Given the description of an element on the screen output the (x, y) to click on. 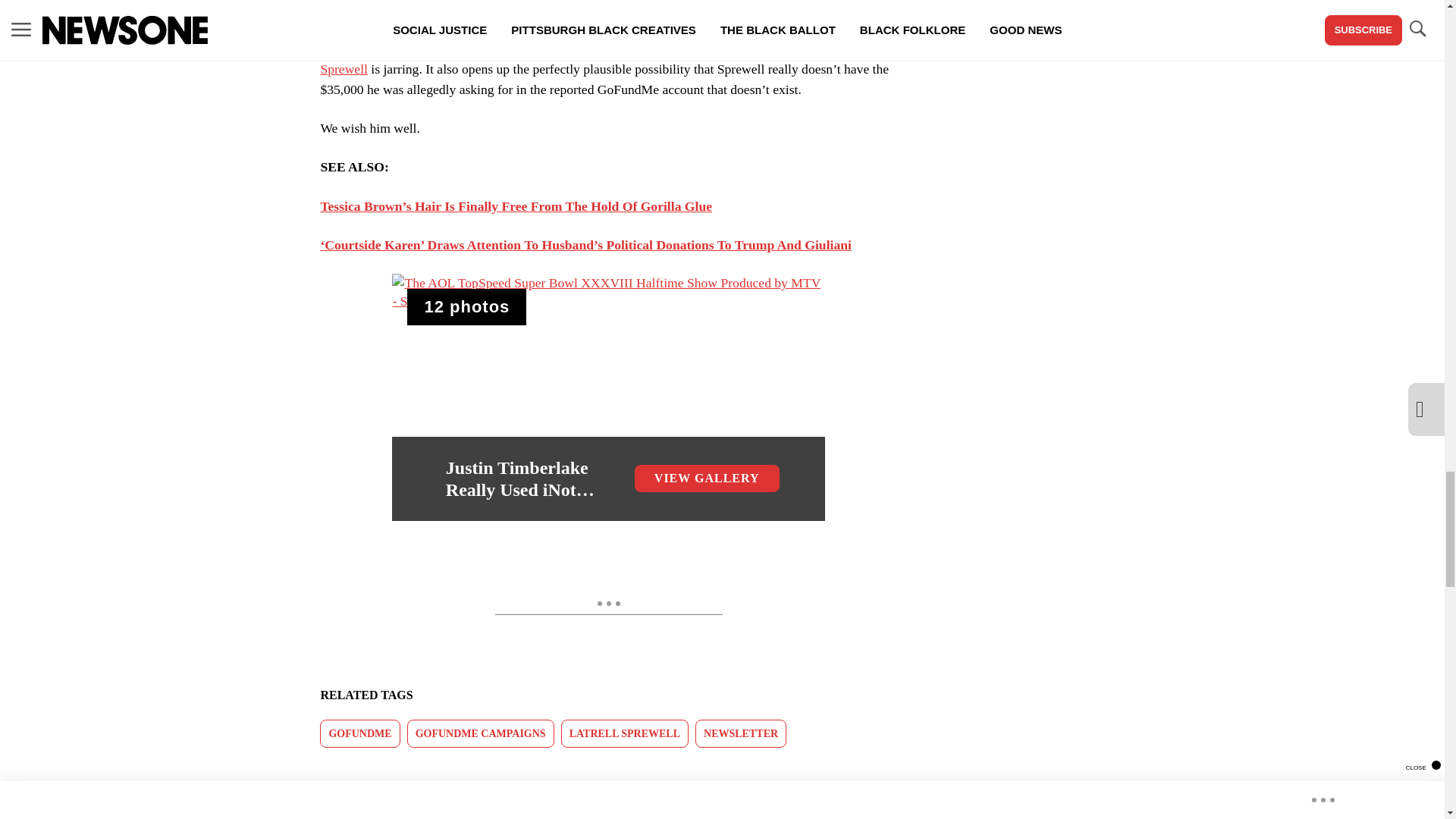
LATRELL SPREWELL (624, 733)
GOFUNDME CAMPAIGNS (480, 733)
NEWSLETTER (740, 733)
he publicly endorsing Donald Trump for president (538, 9)
Media Playlist (466, 307)
GOFUNDME (359, 733)
